Given the description of an element on the screen output the (x, y) to click on. 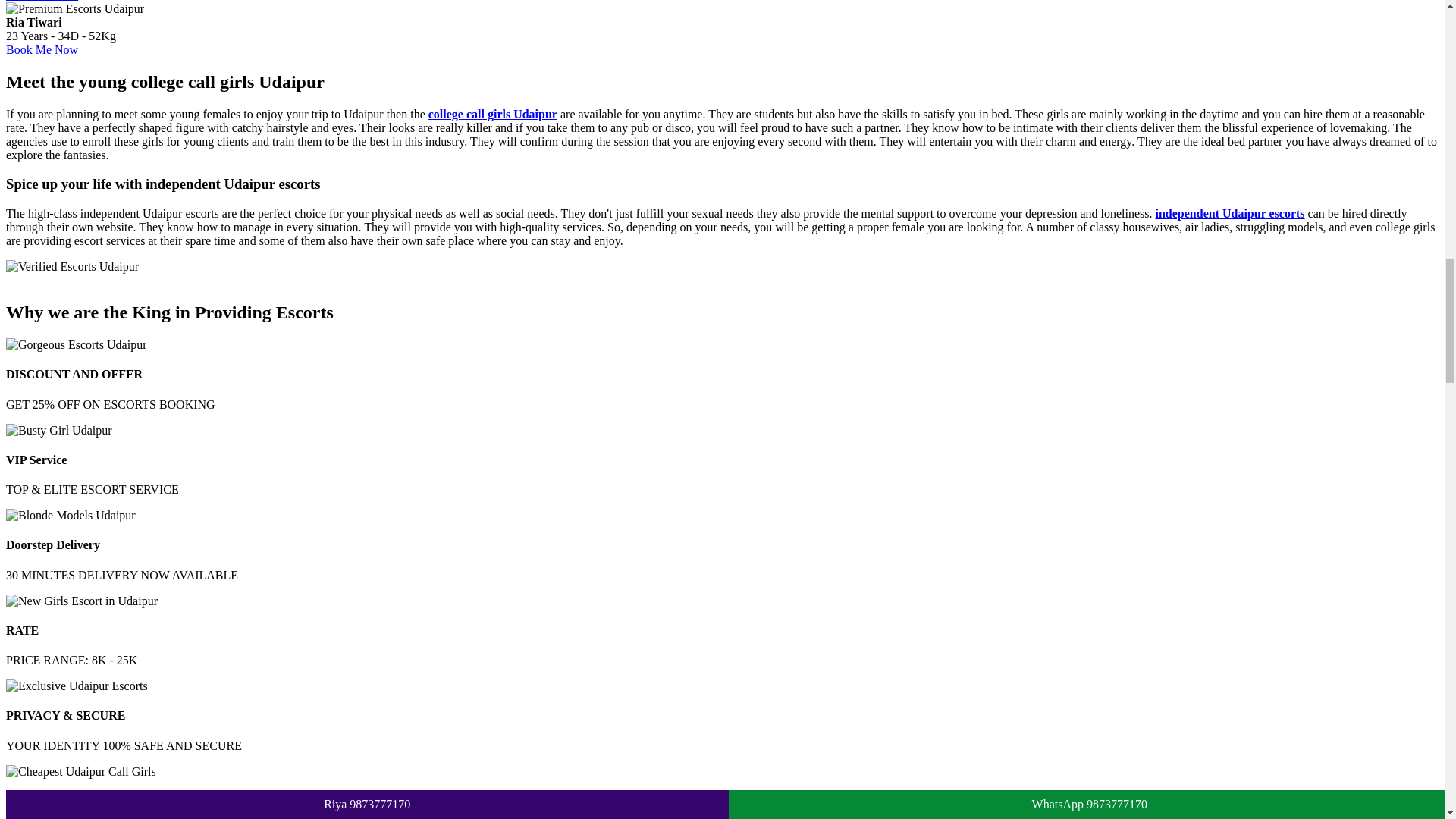
Book Me Now (41, 0)
college call girls Udaipur (492, 113)
Premium Escorts Udaipur (74, 8)
independent Udaipur escorts (1229, 213)
Book Me Now (41, 49)
Verified Escorts Udaipur (71, 266)
